Given the description of an element on the screen output the (x, y) to click on. 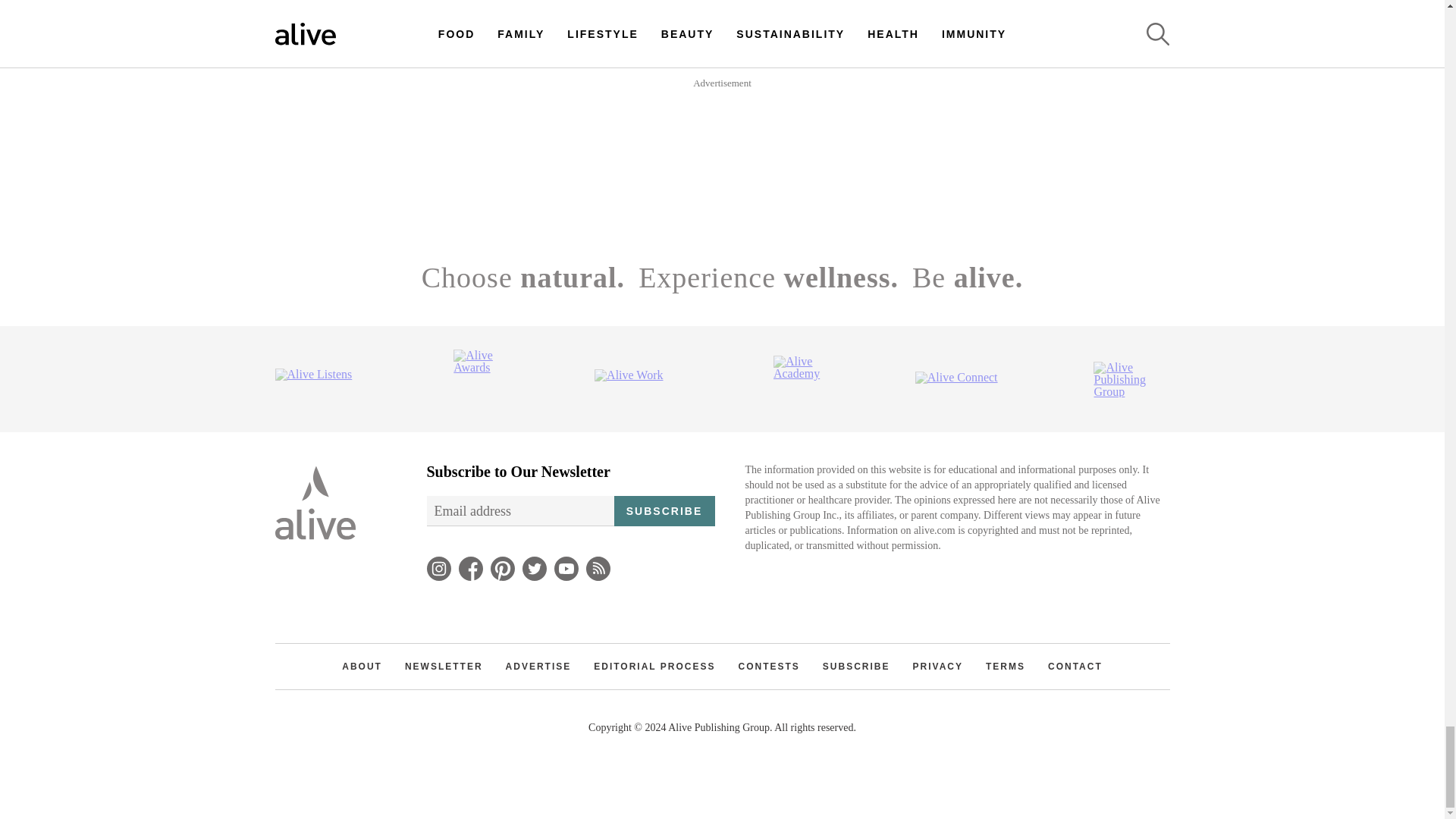
LIFESTYLE (541, 32)
FAMILY (757, 32)
HEALTH (835, 105)
